Given the description of an element on the screen output the (x, y) to click on. 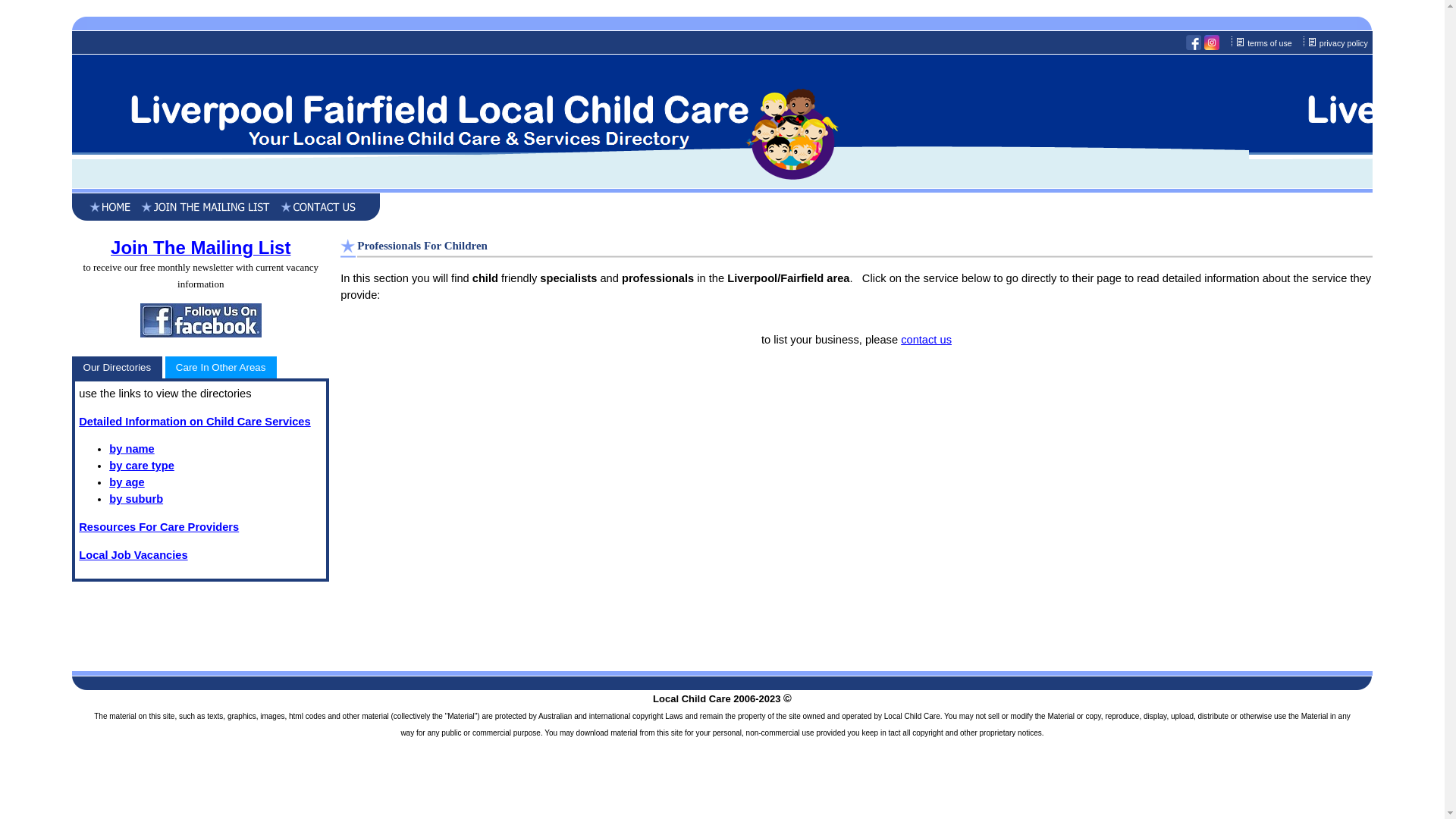
privacy policy Element type: text (1344, 43)
by age Element type: text (126, 482)
by name Element type: text (131, 448)
Detailed Information on Child Care Services Element type: text (194, 421)
Care In Other Areas Element type: text (220, 367)
contact us Element type: text (925, 339)
by care type Element type: text (141, 465)
Local Job Vacancies Element type: text (132, 555)
by suburb Element type: text (136, 498)
Resources For Care Providers Element type: text (158, 526)
Join The Mailing List Element type: text (200, 250)
Our Directories Element type: text (116, 367)
terms of use Element type: text (1270, 43)
